Given the description of an element on the screen output the (x, y) to click on. 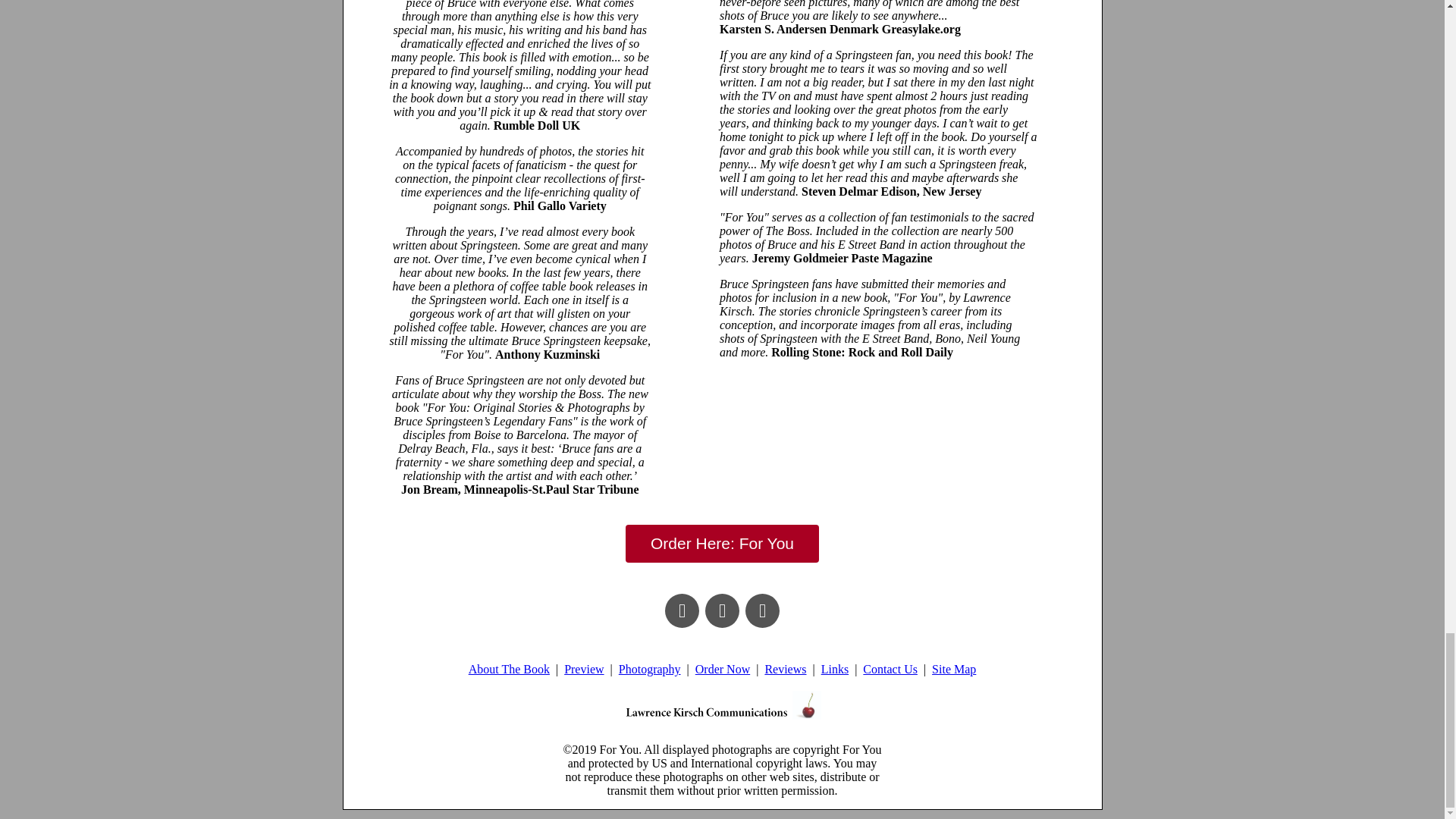
Order Here: For You (722, 543)
About The Book (509, 668)
Links (834, 668)
Contact Us (890, 668)
Photography (649, 668)
Order Now (722, 668)
Pre-order the book (722, 543)
Preview (584, 668)
Site Map (953, 668)
Reviews (785, 668)
